Given the description of an element on the screen output the (x, y) to click on. 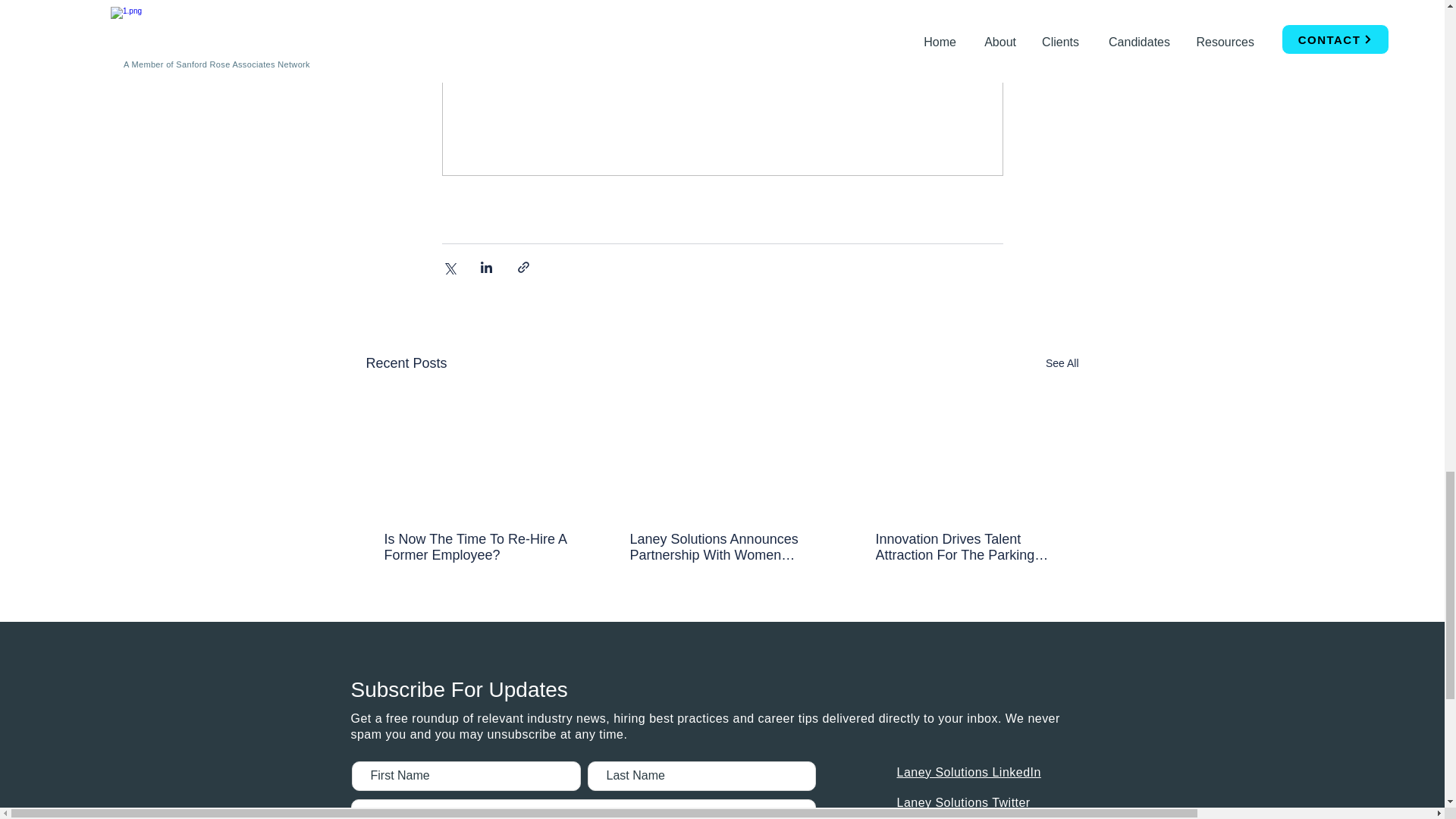
Innovation Drives Talent Attraction For The Parking Industry (966, 547)
Laney Solutions LinkedIn (968, 771)
Laney Solutions Twitter (962, 802)
Is Now The Time To Re-Hire A Former Employee? (475, 547)
See All (1061, 363)
